Given the description of an element on the screen output the (x, y) to click on. 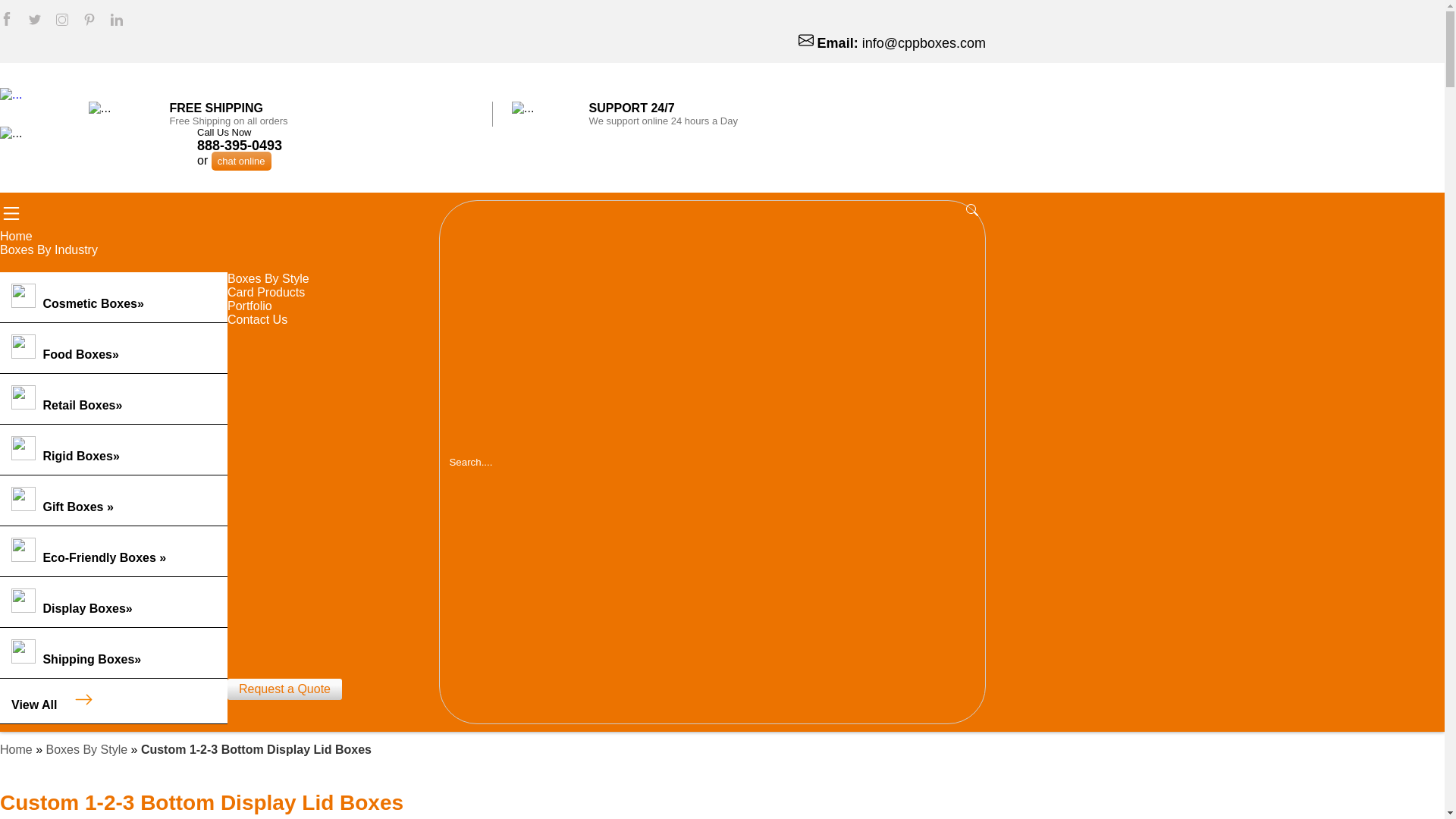
chat online (240, 160)
Boxes By Industry (60, 249)
888-395-0493 (239, 145)
Home (27, 236)
